Given the description of an element on the screen output the (x, y) to click on. 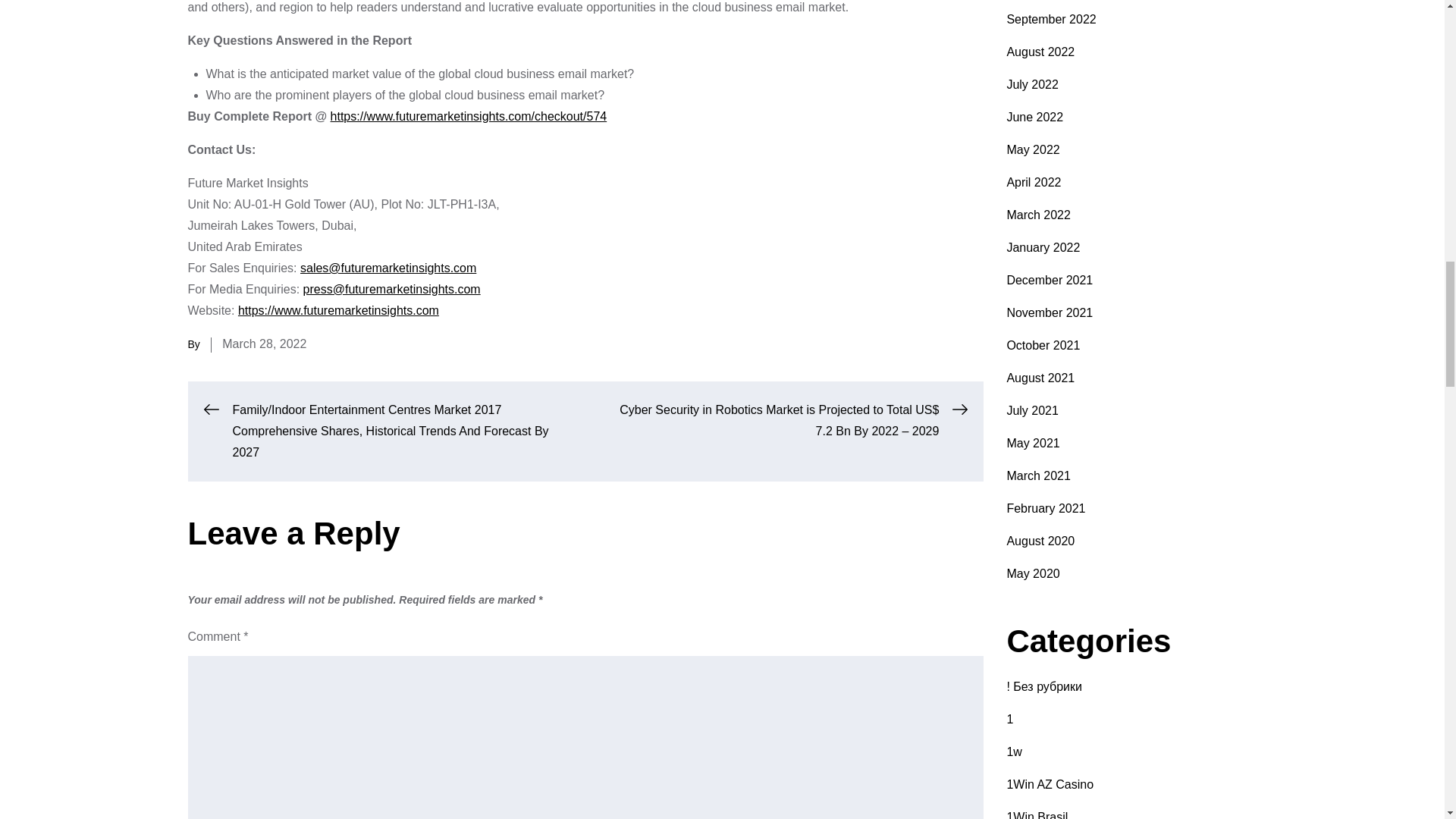
March 28, 2022 (263, 343)
